Given the description of an element on the screen output the (x, y) to click on. 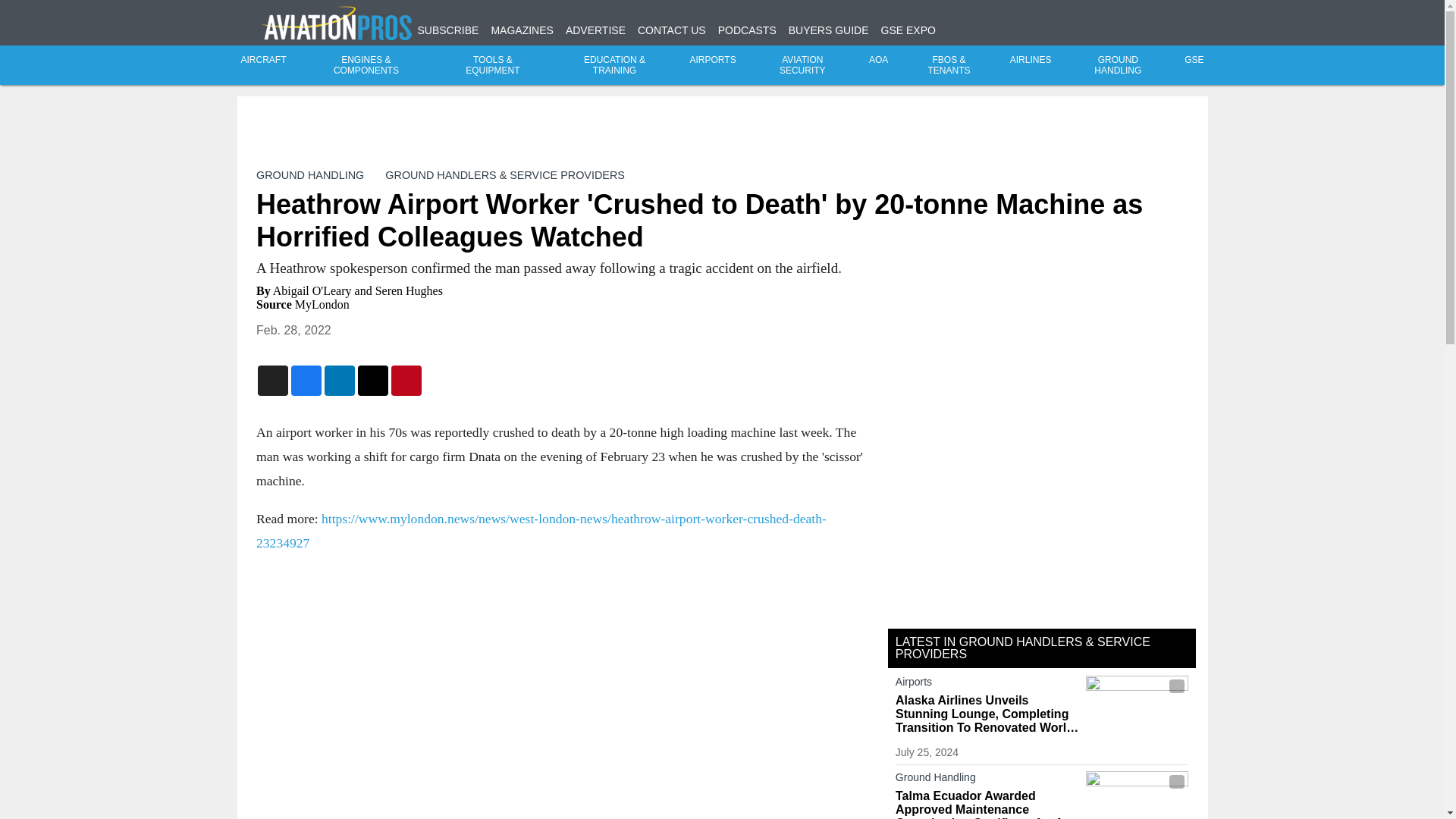
Ground Handling (986, 780)
GROUND HANDLING (1117, 65)
GSE EXPO (908, 30)
ADVERTISE (596, 30)
AVIATION SECURITY (801, 65)
GROUND HANDLING (310, 174)
AIRCRAFT (263, 59)
GSE (1194, 59)
AIRLINES (1030, 59)
Airports (986, 684)
BUYERS GUIDE (829, 30)
MAGAZINES (521, 30)
SUBSCRIBE (447, 30)
